Given the description of an element on the screen output the (x, y) to click on. 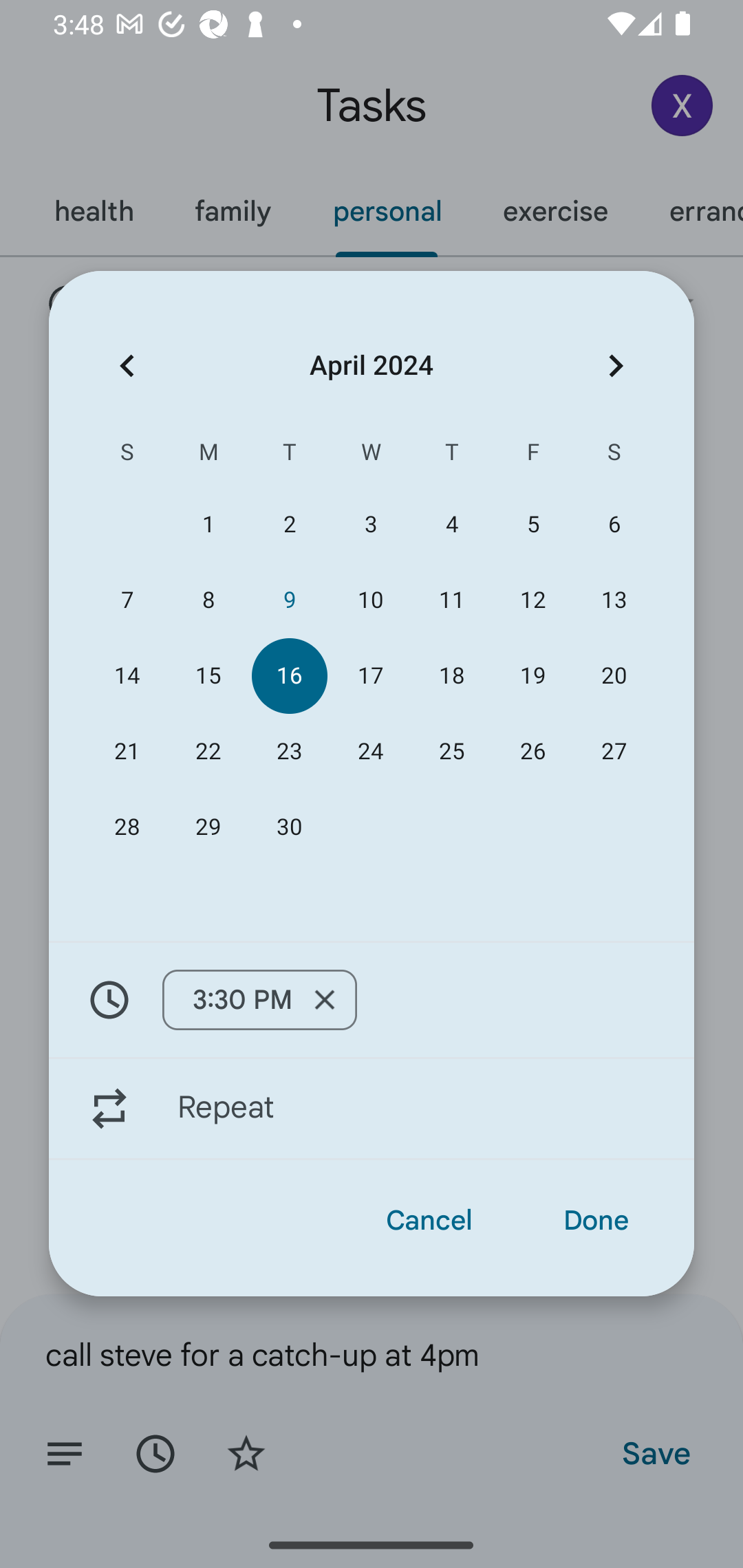
Previous month (126, 364)
Next month (615, 364)
1 01 April 2024 (207, 524)
2 02 April 2024 (288, 524)
3 03 April 2024 (370, 524)
4 04 April 2024 (451, 524)
5 05 April 2024 (532, 524)
6 06 April 2024 (613, 524)
7 07 April 2024 (126, 600)
8 08 April 2024 (207, 600)
9 09 April 2024 (288, 600)
10 10 April 2024 (370, 600)
11 11 April 2024 (451, 600)
12 12 April 2024 (532, 600)
13 13 April 2024 (613, 600)
14 14 April 2024 (126, 675)
15 15 April 2024 (207, 675)
16 16 April 2024 (288, 675)
17 17 April 2024 (370, 675)
18 18 April 2024 (451, 675)
19 19 April 2024 (532, 675)
20 20 April 2024 (613, 675)
21 21 April 2024 (126, 751)
22 22 April 2024 (207, 751)
23 23 April 2024 (288, 751)
24 24 April 2024 (370, 751)
25 25 April 2024 (451, 751)
26 26 April 2024 (532, 751)
27 27 April 2024 (613, 751)
28 28 April 2024 (126, 827)
29 29 April 2024 (207, 827)
30 30 April 2024 (288, 827)
3:30 PM Remove 3:30 PM (371, 999)
3:30 PM Remove 3:30 PM (259, 999)
Repeat (371, 1108)
Cancel (429, 1220)
Done (595, 1220)
